Given the description of an element on the screen output the (x, y) to click on. 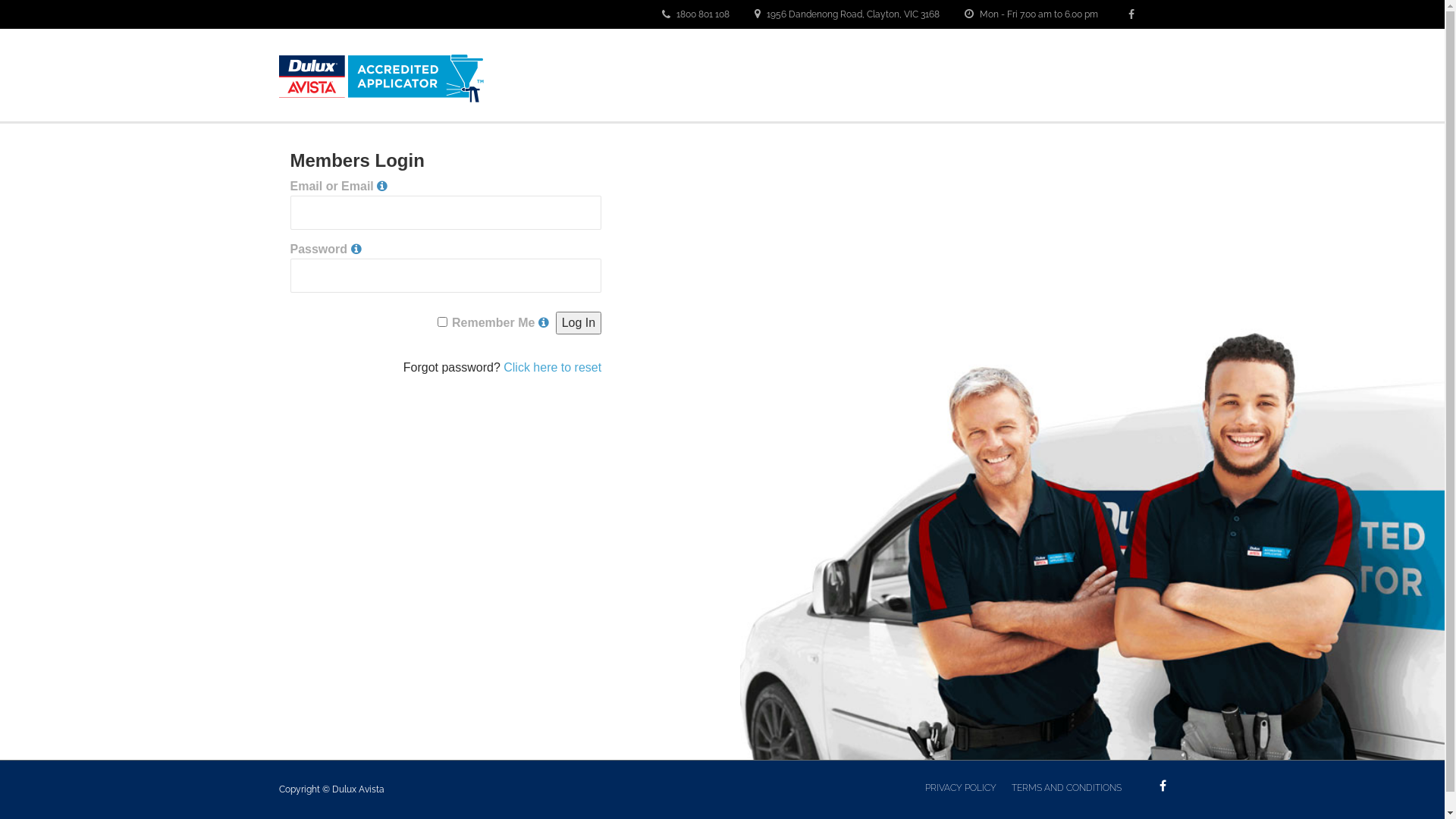
PRIVACY POLICY Element type: text (960, 787)
TERMS AND CONDITIONS Element type: text (1066, 787)
Log In Element type: text (578, 322)
Click here to reset Element type: text (552, 366)
